Given the description of an element on the screen output the (x, y) to click on. 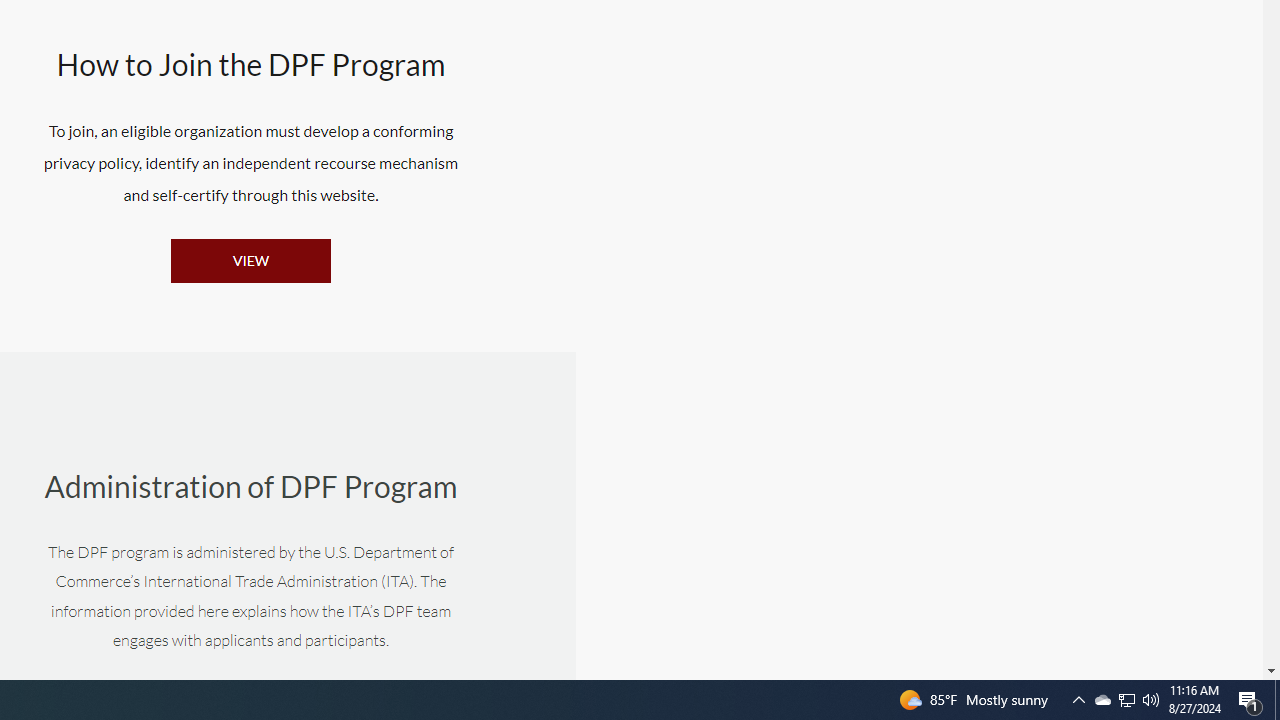
VIEW (251, 260)
